Given the description of an element on the screen output the (x, y) to click on. 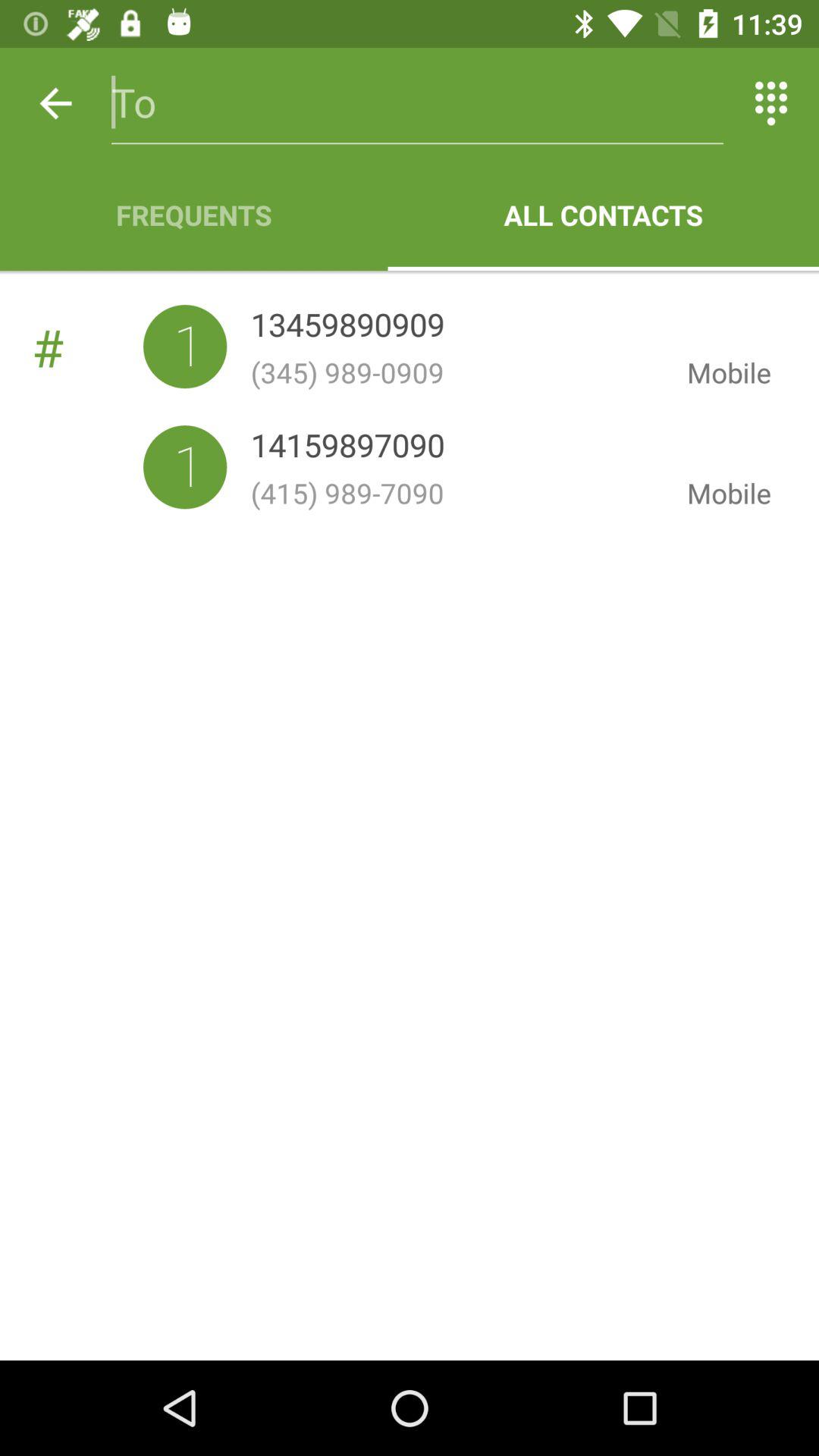
press the app above frequents item (55, 103)
